Given the description of an element on the screen output the (x, y) to click on. 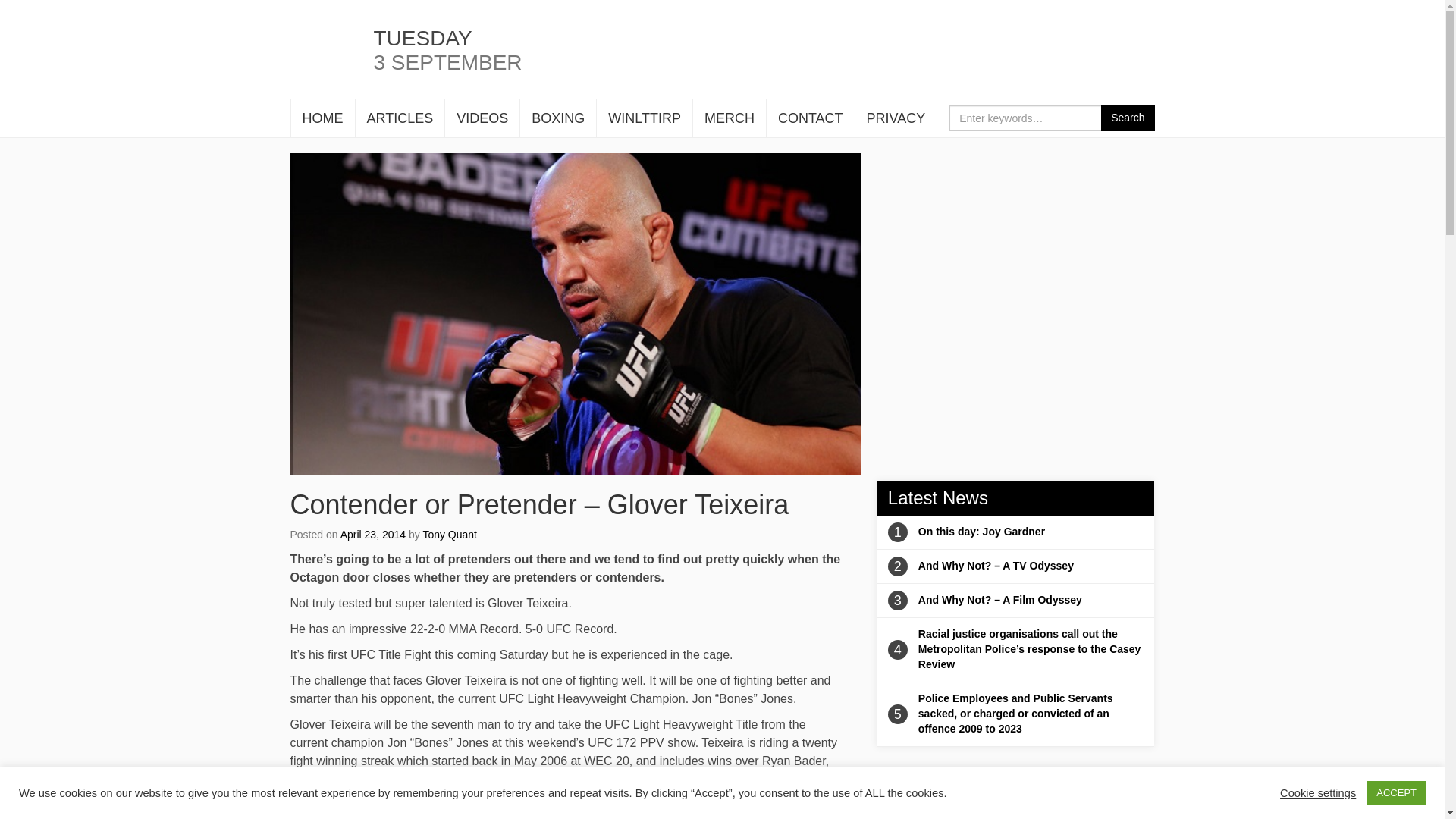
HOME (323, 118)
BOXING (557, 118)
Search (1127, 118)
ARTICLES (399, 118)
WINLTTIRP (644, 118)
YouTube video player (1013, 251)
VIDEOS (482, 118)
MERCH (729, 118)
CONTACT (810, 118)
April 23, 2014 (373, 534)
